Given the description of an element on the screen output the (x, y) to click on. 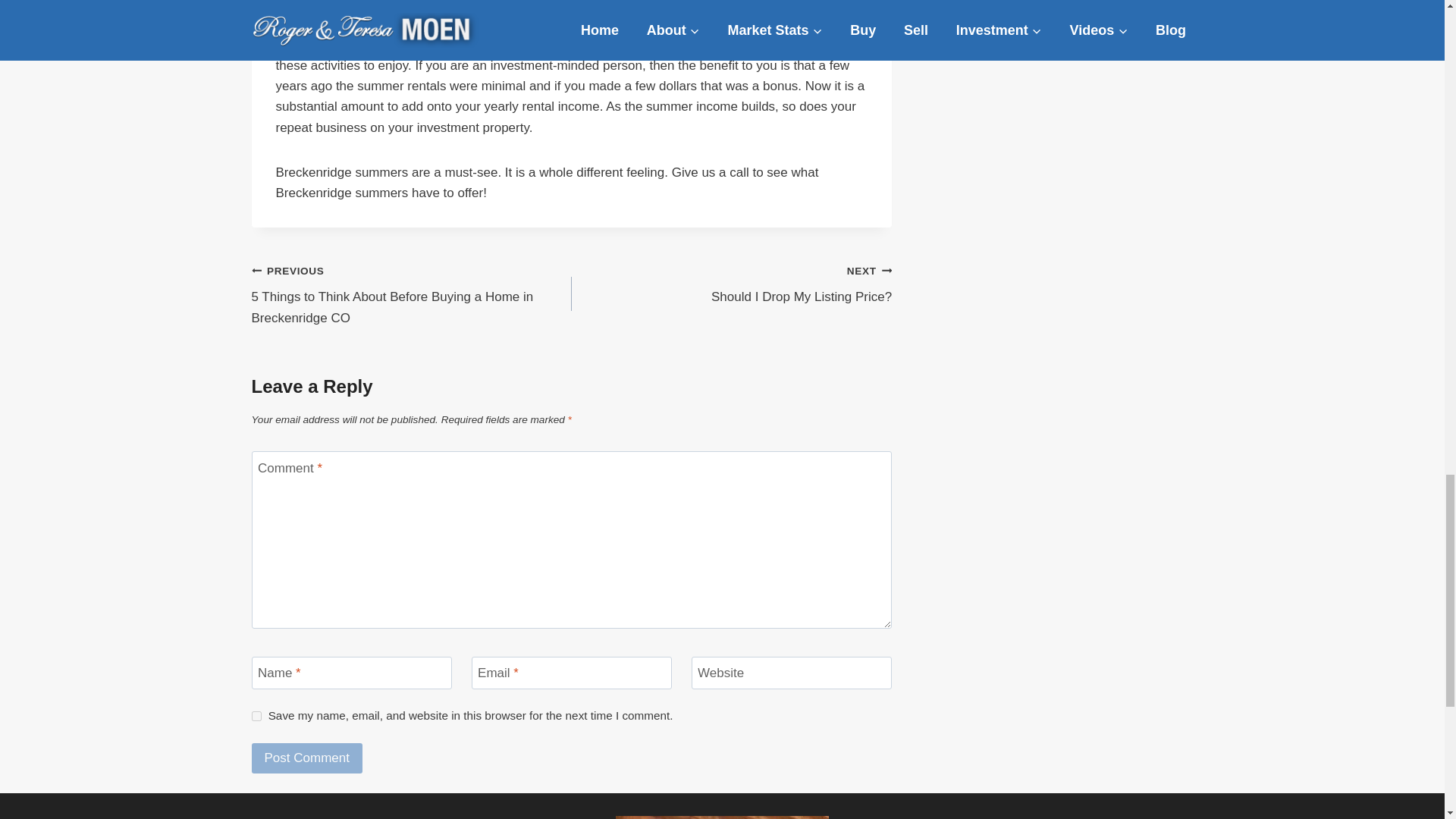
Post Comment (306, 757)
yes (256, 716)
